Given the description of an element on the screen output the (x, y) to click on. 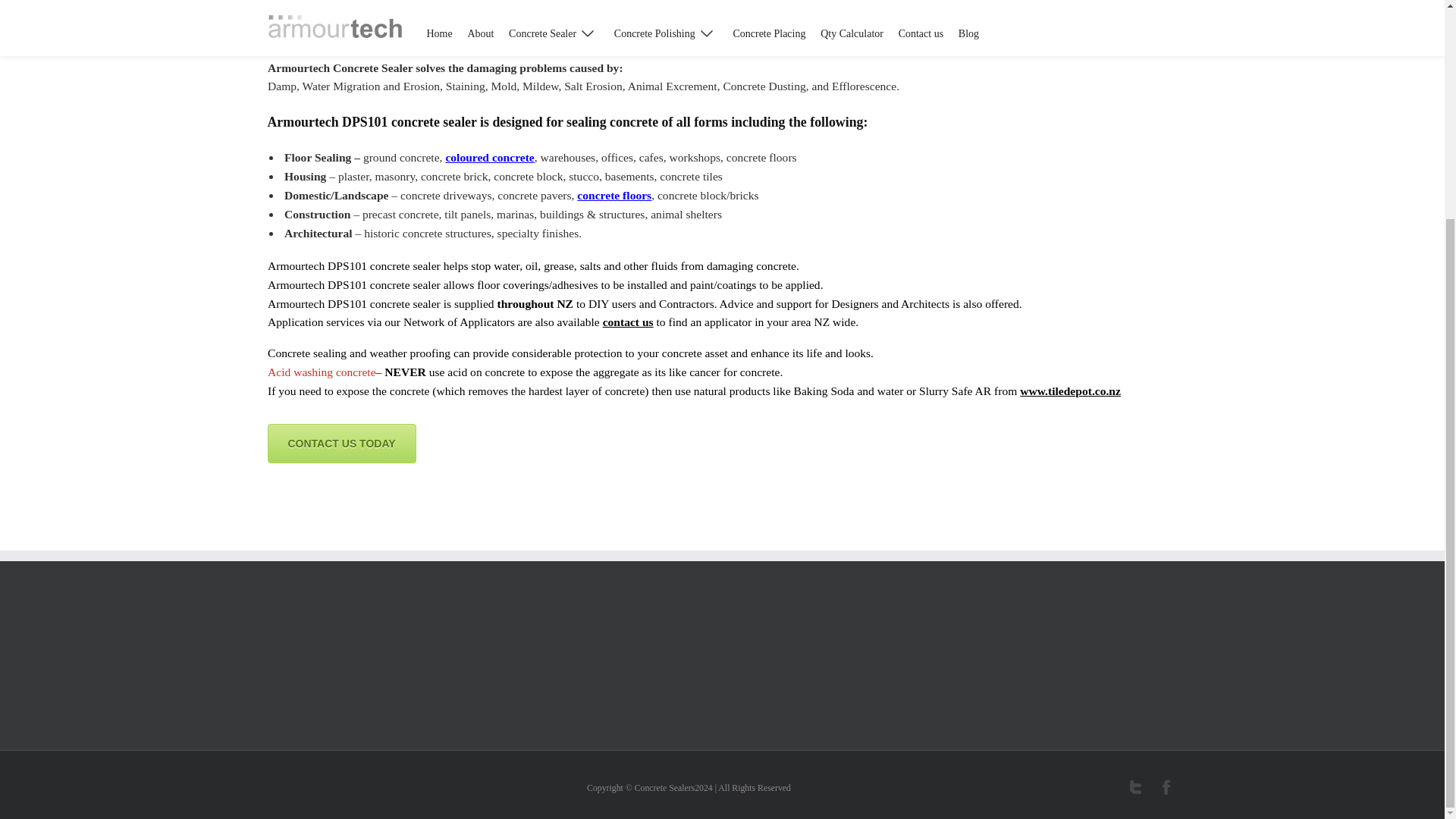
www.tiledepot.co.nz (1070, 390)
CONTACT US TODAY (340, 443)
contact us (627, 321)
coloured concrete (489, 156)
Twitter (1135, 786)
Facebook (1168, 786)
concrete floors (613, 195)
www.tiledepot.co.nz (1070, 390)
Contact Us (627, 321)
